Given the description of an element on the screen output the (x, y) to click on. 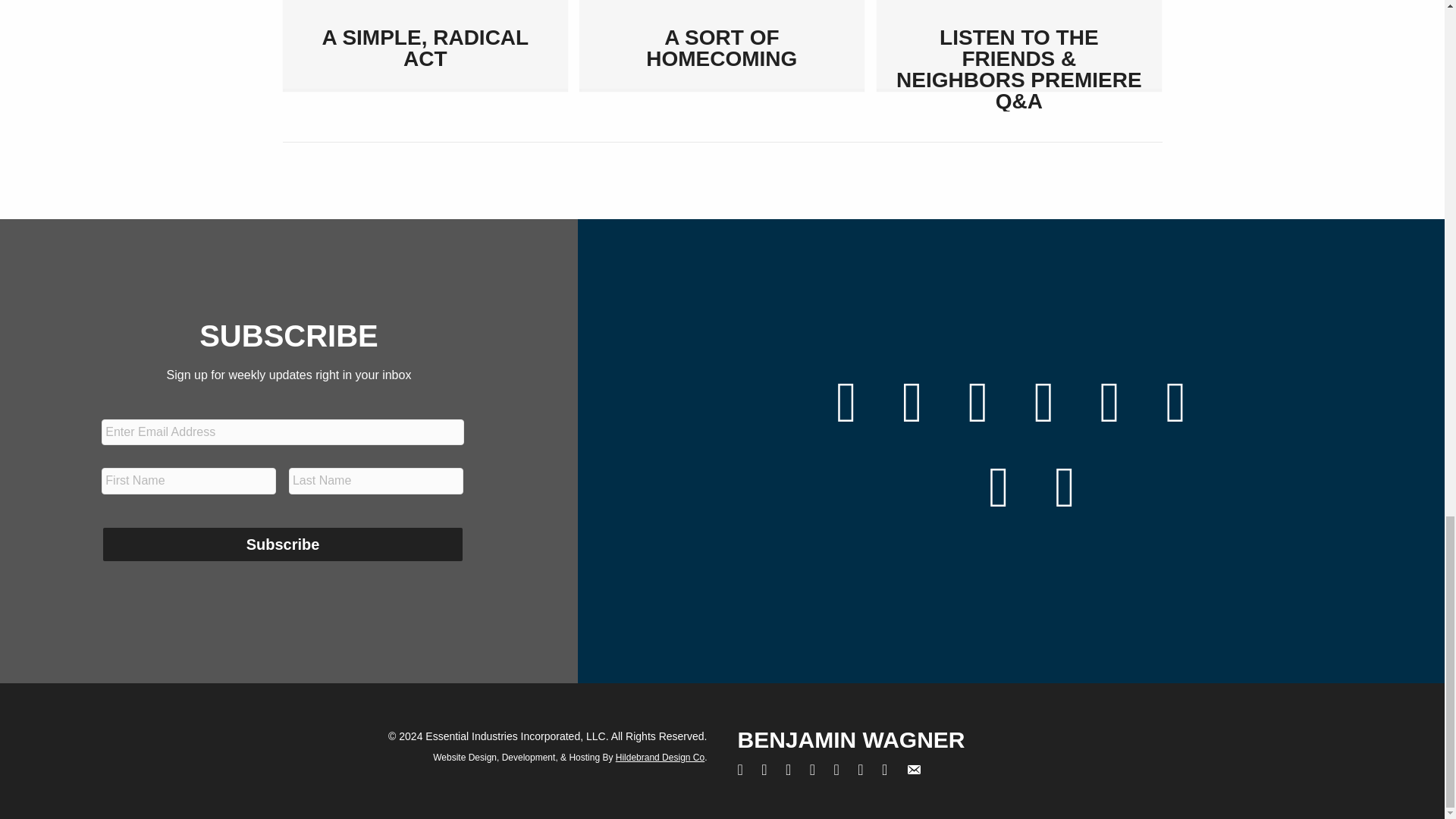
View Box Content (721, 44)
View Box Content (1018, 44)
A Simple, Radical Act (424, 47)
Subscribe (282, 544)
A SIMPLE, RADICAL ACT (424, 47)
View Box Content (424, 44)
A Sort Of Homecoming (721, 47)
A SORT OF HOMECOMING (721, 47)
Subscribe (282, 544)
